Given the description of an element on the screen output the (x, y) to click on. 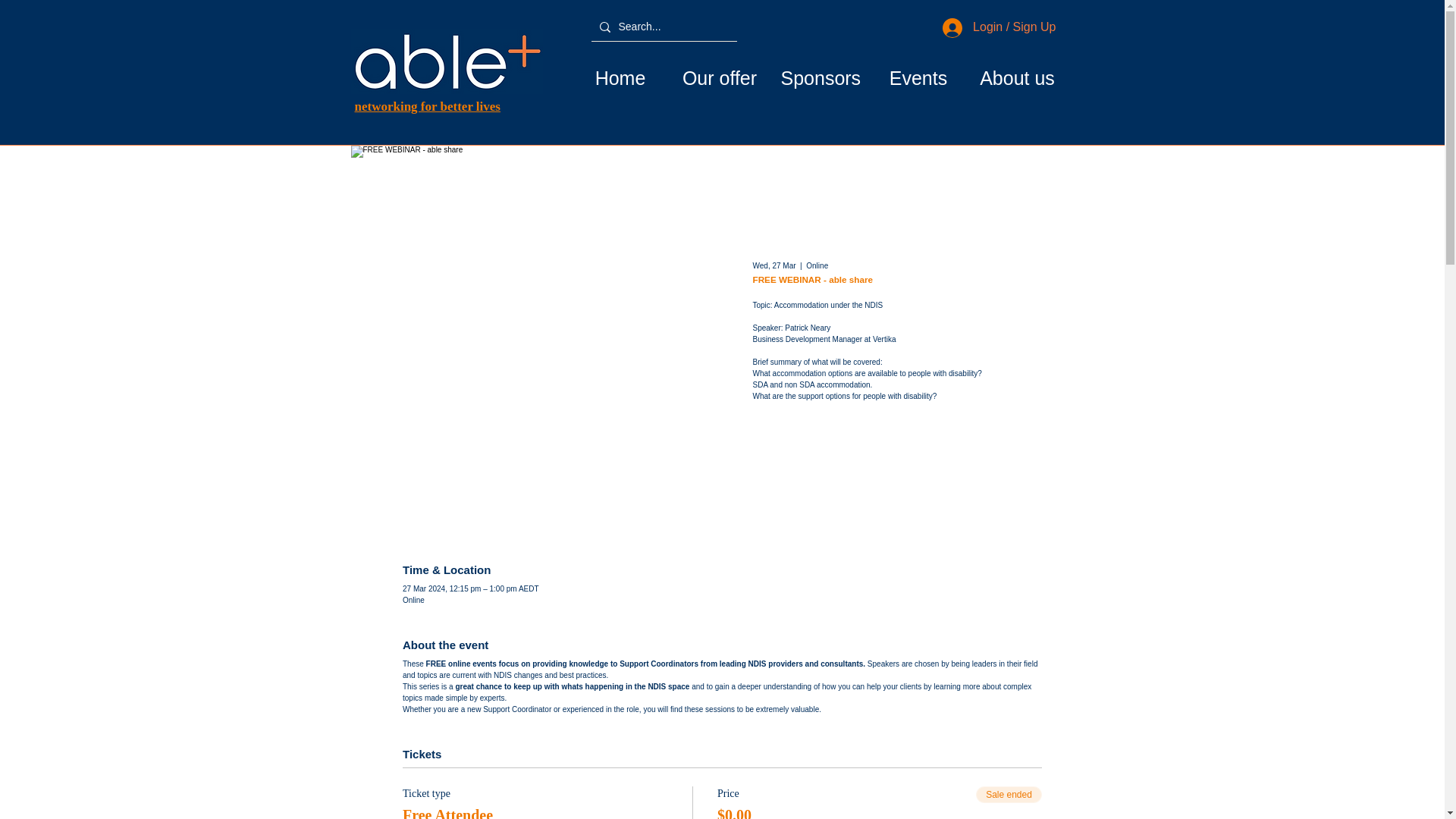
Home (619, 77)
Our offer (719, 77)
About us (1016, 77)
Sponsors (817, 77)
networking for better lives (427, 106)
Events (918, 77)
